Given the description of an element on the screen output the (x, y) to click on. 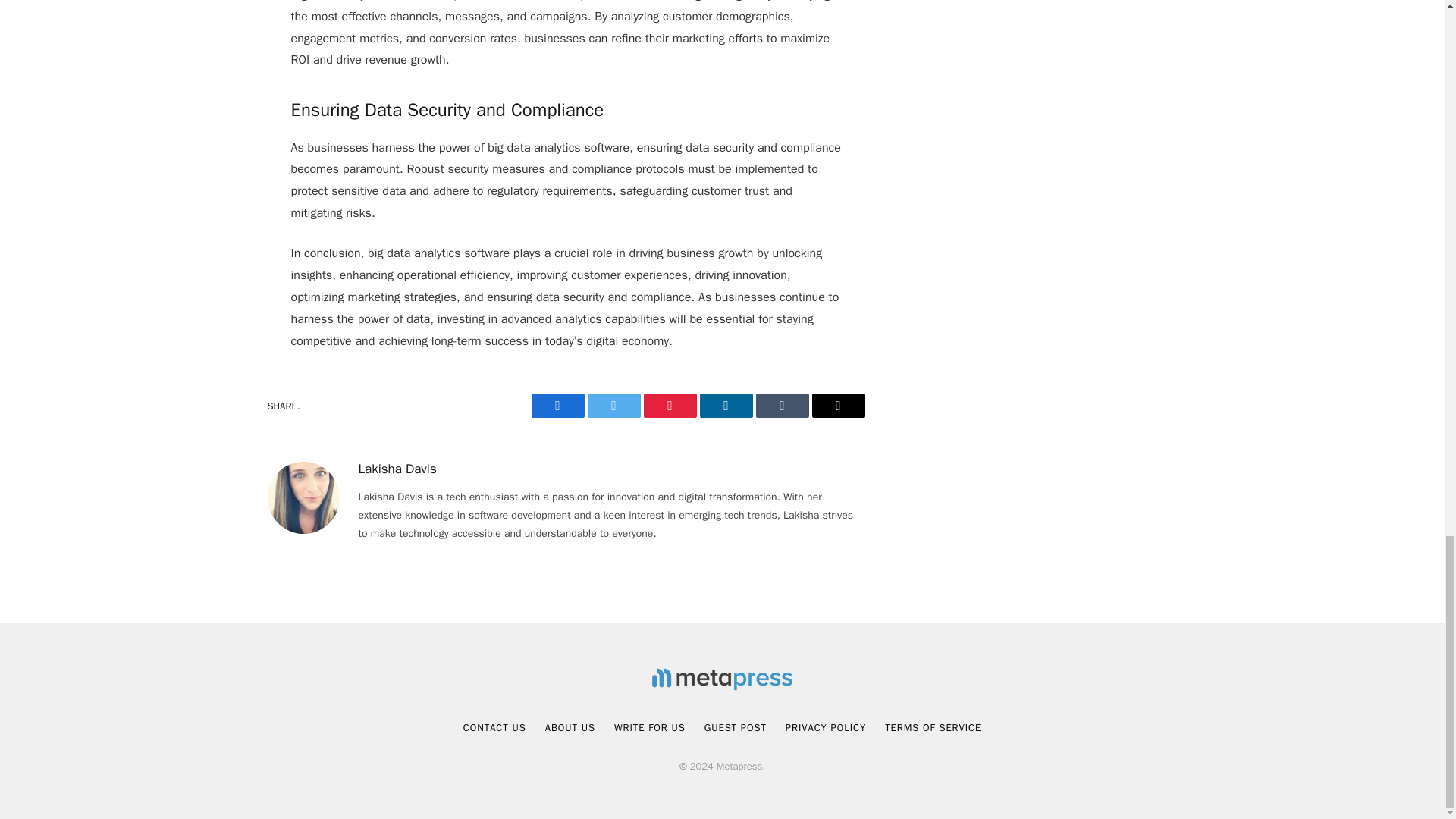
Twitter (613, 405)
Facebook (557, 405)
